Given the description of an element on the screen output the (x, y) to click on. 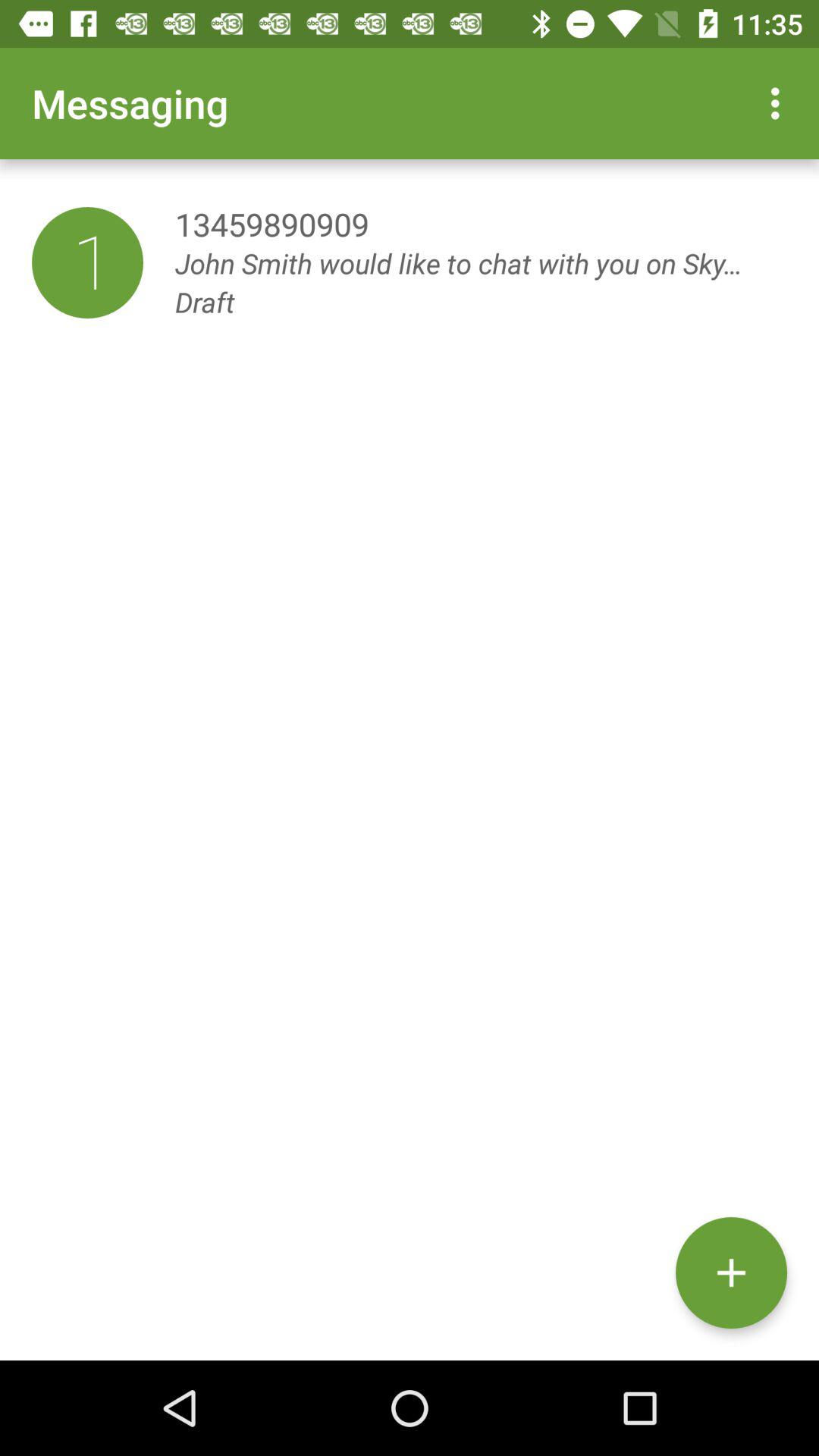
press the icon at the bottom right corner (731, 1272)
